Given the description of an element on the screen output the (x, y) to click on. 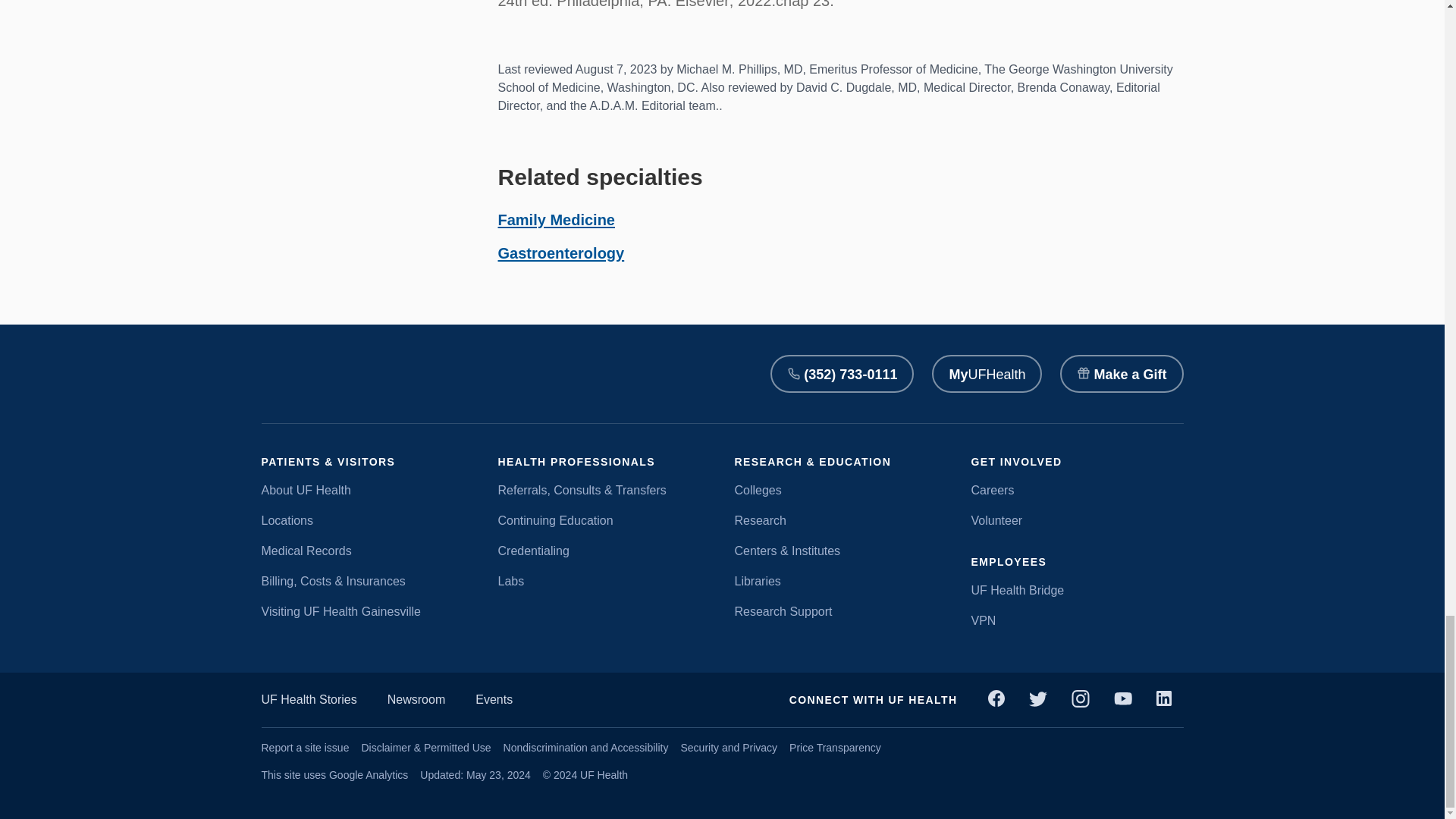
Continuing Education (603, 520)
University of Florida (452, 373)
Make a Gift (1120, 373)
Family Medicine (555, 219)
About UF Health (366, 490)
Medical Records (366, 551)
Labs (603, 581)
Research (839, 520)
Colleges (839, 490)
Visiting UF Health Gainesville (366, 611)
